Given the description of an element on the screen output the (x, y) to click on. 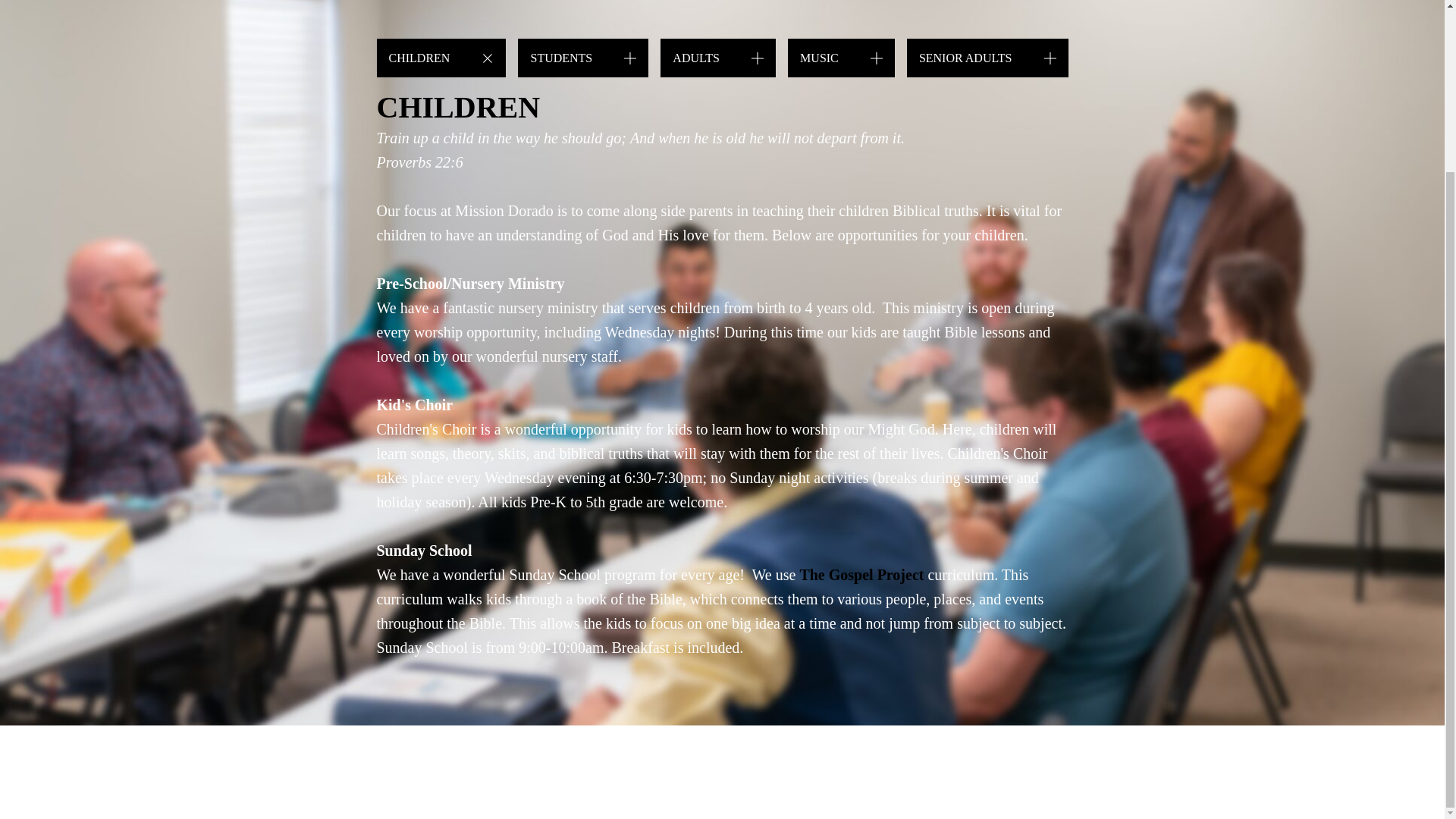
CHILDREN (440, 57)
SENIOR ADULTS (987, 57)
The Gospel Project (861, 574)
ADULTS (718, 57)
MUSIC (841, 57)
STUDENTS (582, 57)
